Given the description of an element on the screen output the (x, y) to click on. 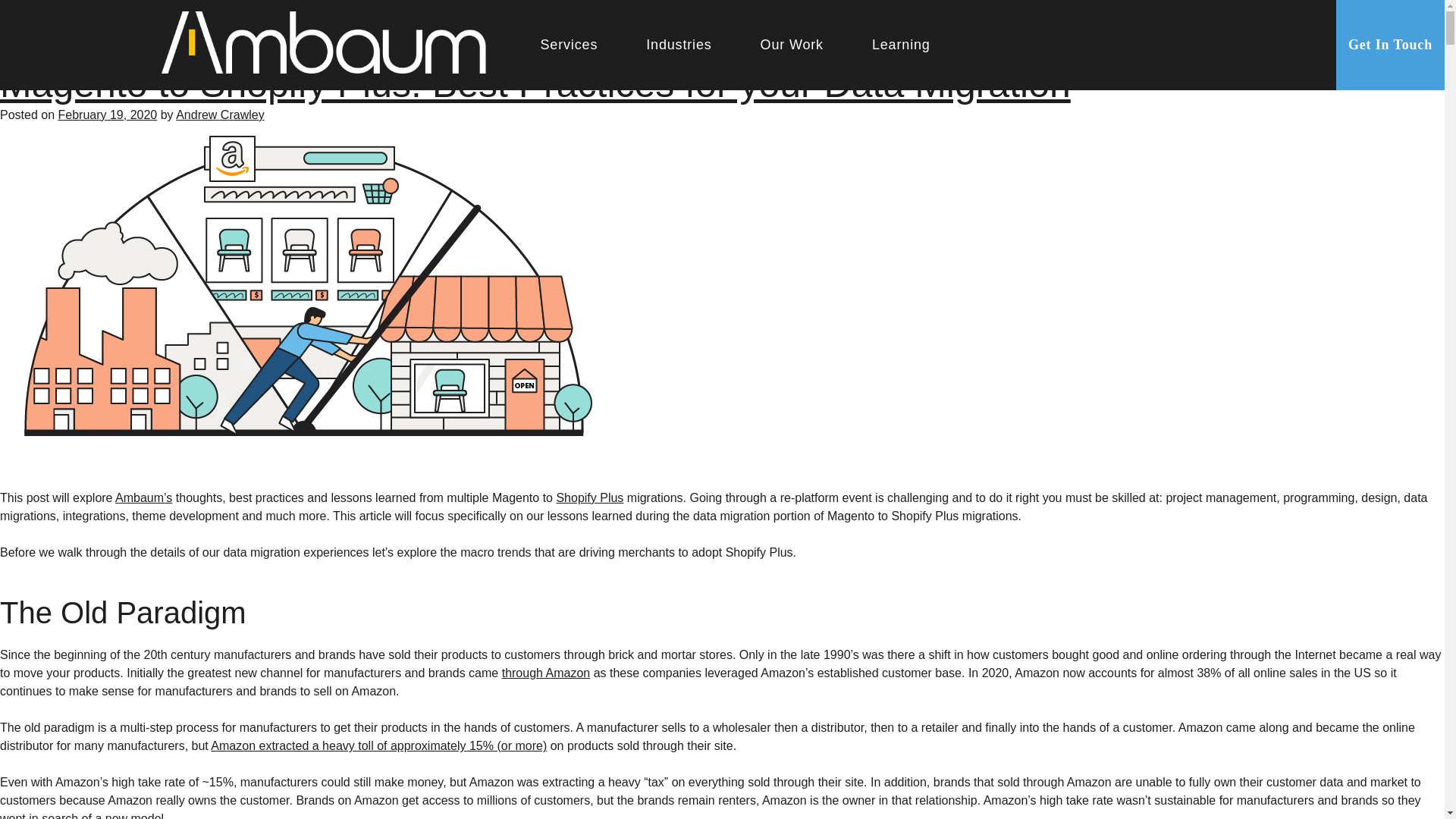
through Amazon (546, 672)
Learning (901, 48)
Shopify Plus (589, 497)
Our Work (792, 48)
February 19, 2020 (107, 114)
Services (569, 48)
Andrew Crawley (219, 114)
Industries (678, 48)
